Given the description of an element on the screen output the (x, y) to click on. 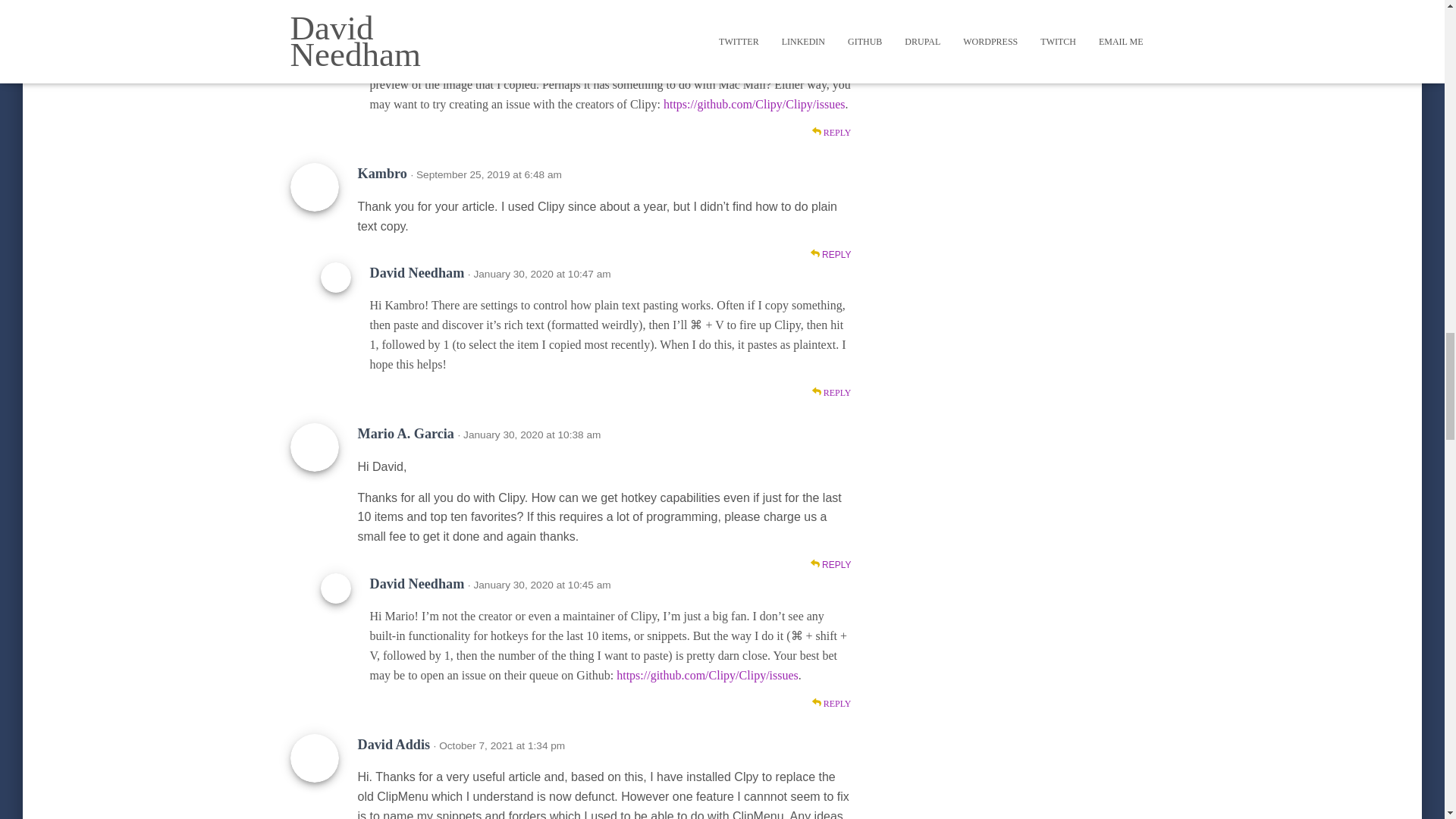
REPLY (830, 255)
REPLY (830, 564)
REPLY (831, 133)
REPLY (831, 392)
David Needham (416, 32)
REPLY (831, 703)
David Needham (416, 272)
David Needham (416, 583)
REPLY (830, 13)
